Given the description of an element on the screen output the (x, y) to click on. 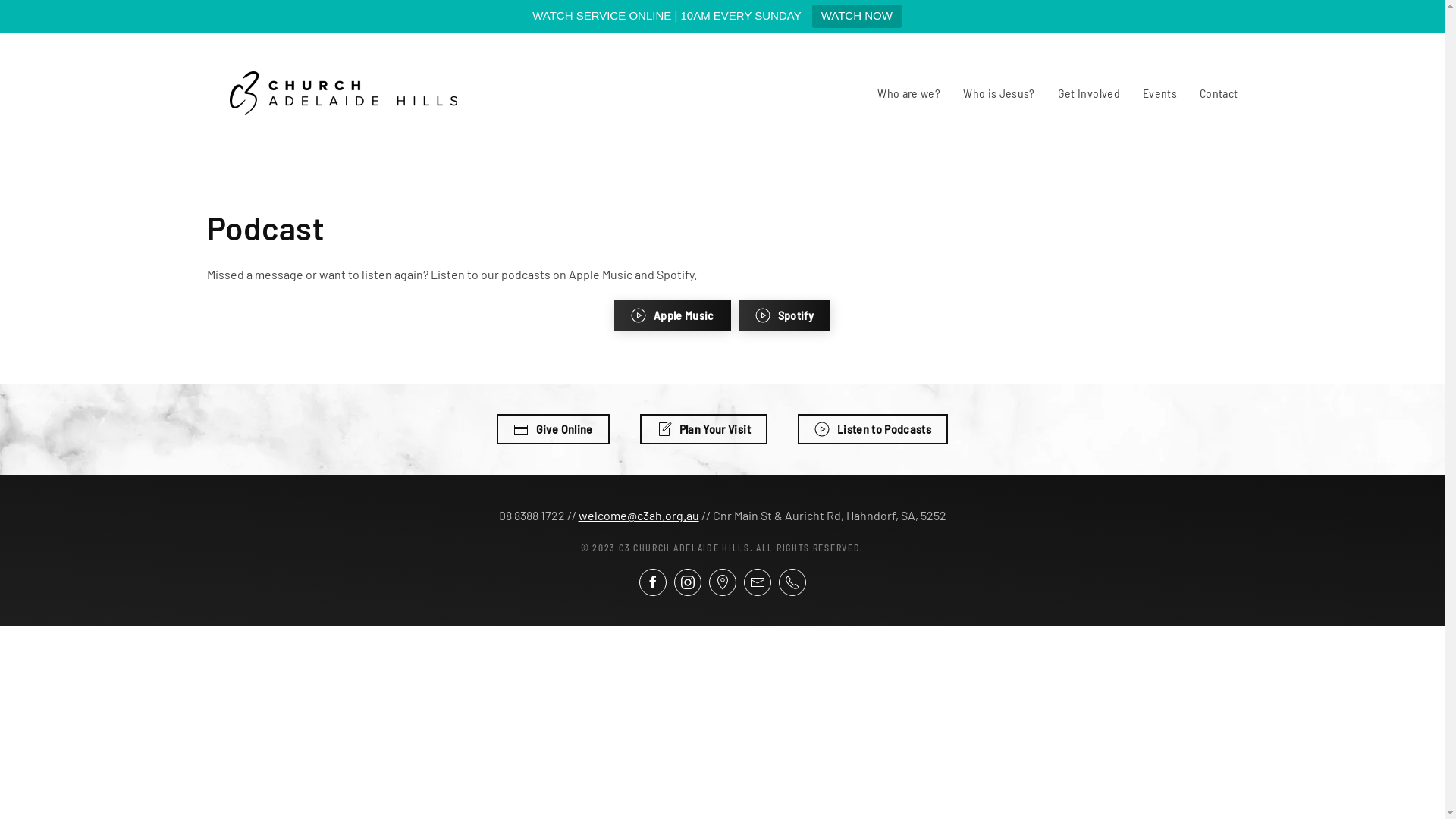
Contact Element type: text (1218, 92)
welcome@c3ah.org.au Element type: text (637, 515)
Events Element type: text (1159, 92)
Get Involved Element type: text (1088, 92)
Who is Jesus? Element type: text (999, 92)
Apple Music Element type: text (672, 315)
WATCH NOW Element type: text (856, 16)
Listen to Podcasts Element type: text (872, 429)
Who are we? Element type: text (908, 92)
Plan Your Visit Element type: text (703, 429)
Give Online Element type: text (552, 429)
Spotify Element type: text (784, 315)
